Given the description of an element on the screen output the (x, y) to click on. 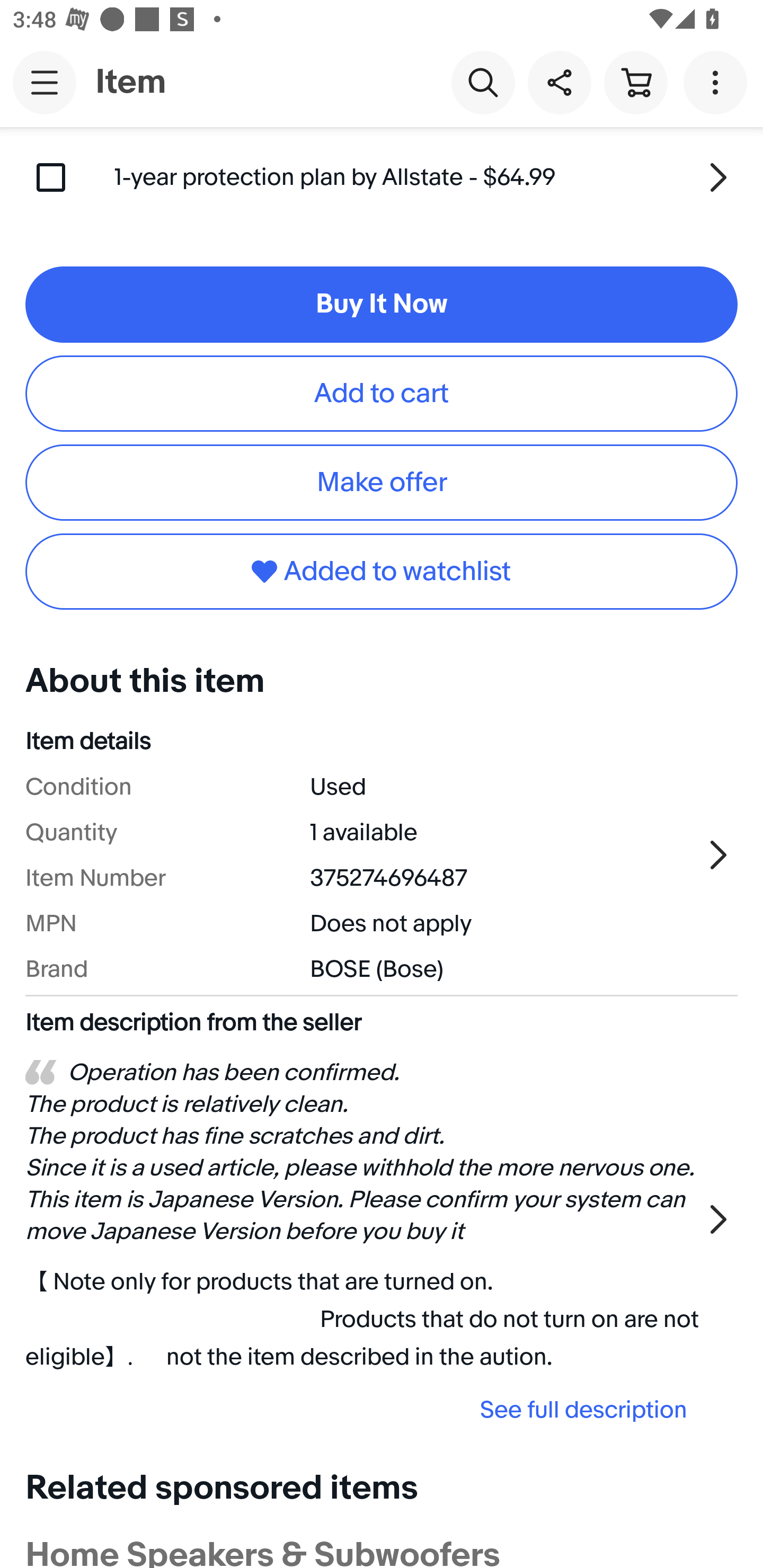
Main navigation, open (44, 82)
Search (482, 81)
Share this item (559, 81)
Cart button shopping cart (635, 81)
More options (718, 81)
1-year protection plan by Allstate - $64.99 (425, 177)
Buy It Now (381, 304)
Add to cart (381, 393)
Make offer (381, 481)
Added to watchlist (381, 571)
See full description (362, 1408)
